Given the description of an element on the screen output the (x, y) to click on. 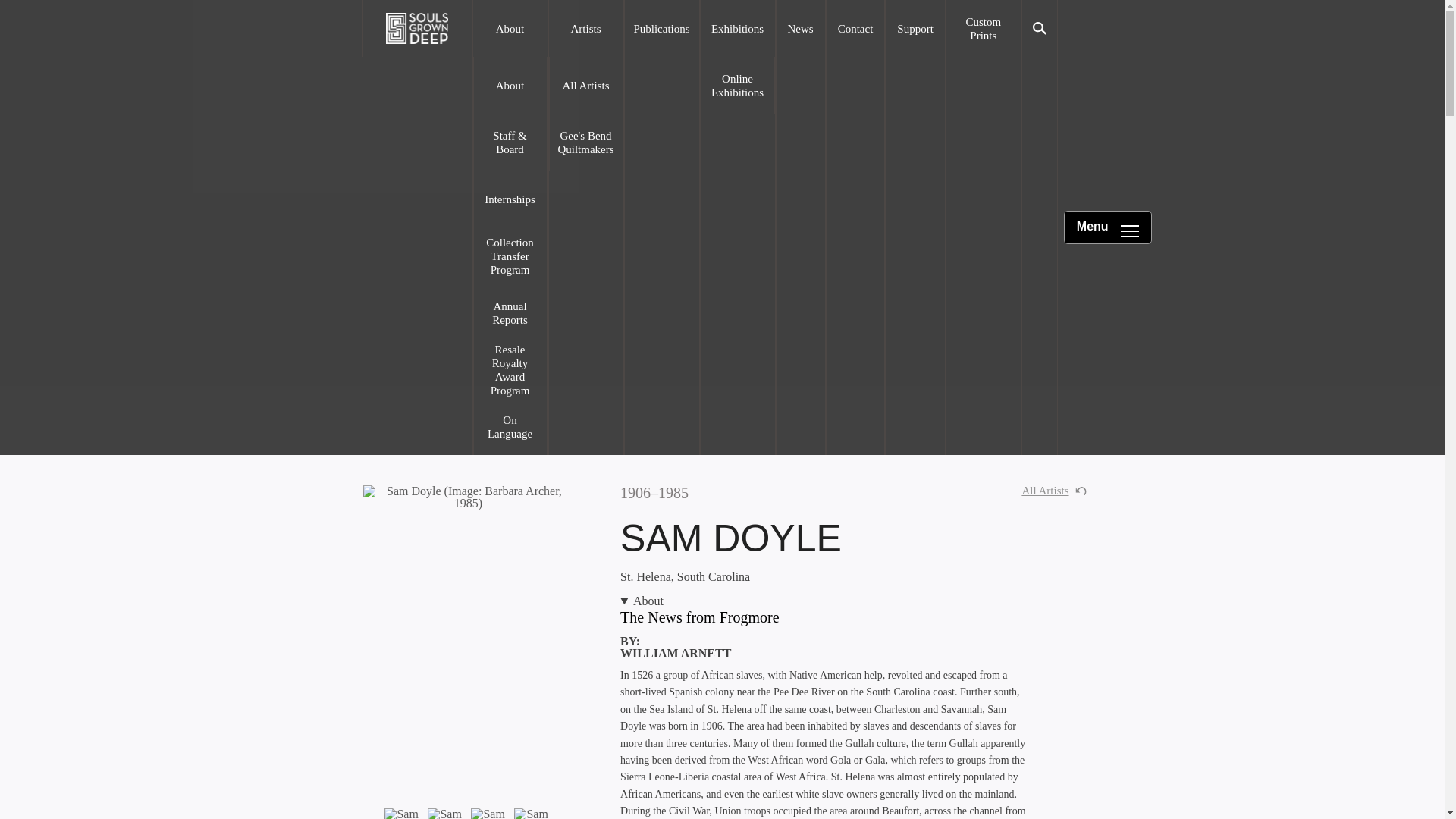
All Artists (1054, 490)
About (509, 84)
All Artists (584, 84)
Exhibitions (737, 28)
Menu (1107, 227)
Publications (661, 28)
Souls Grown Deep (416, 28)
Support (914, 28)
On Language (509, 426)
Artists (585, 28)
